Given the description of an element on the screen output the (x, y) to click on. 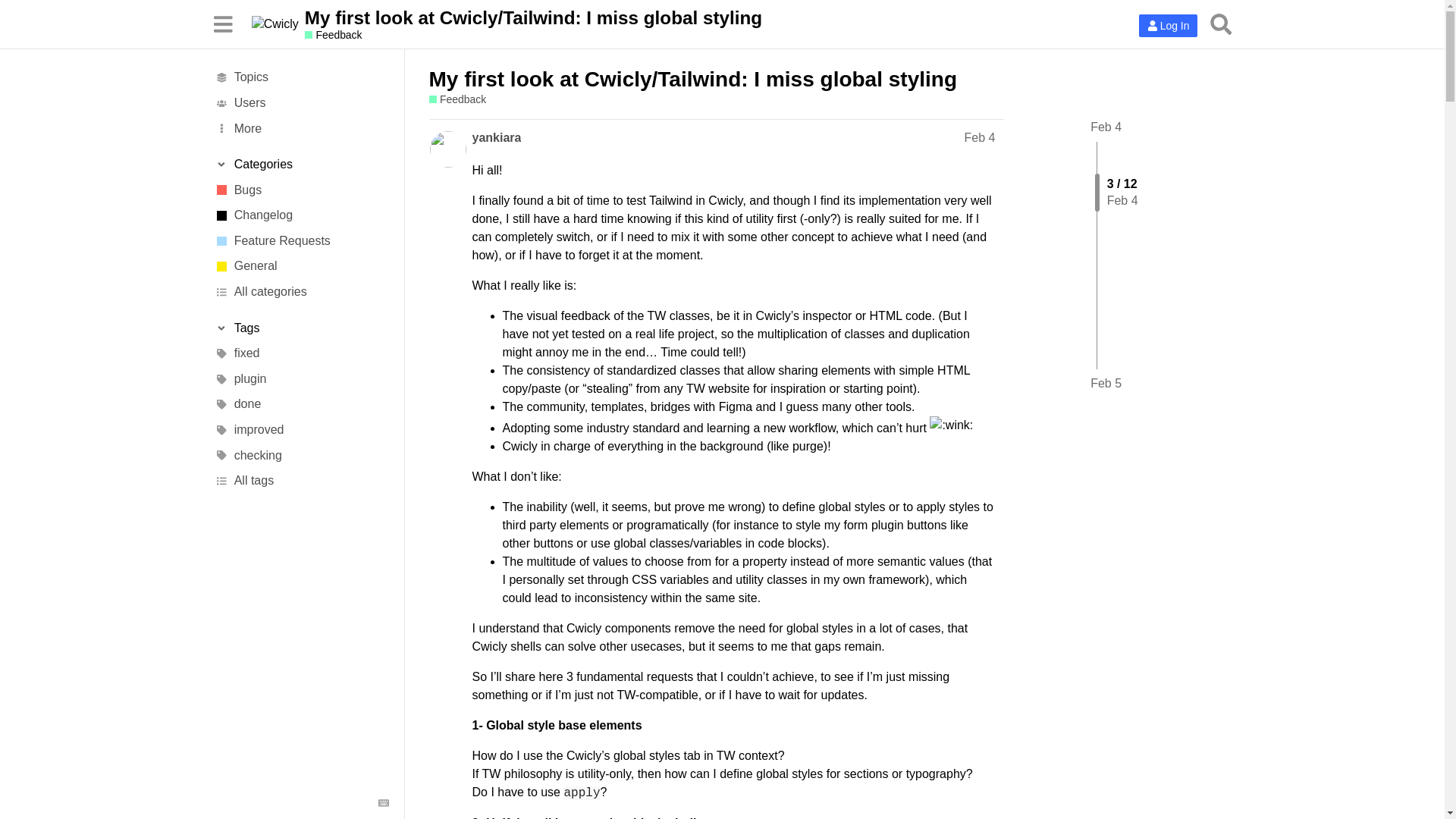
Feedback (333, 34)
yankiara (496, 137)
improved (301, 429)
Log In (1168, 25)
plugin (301, 379)
Toggle section (301, 328)
Categories (301, 164)
Toggle section (301, 164)
